Given the description of an element on the screen output the (x, y) to click on. 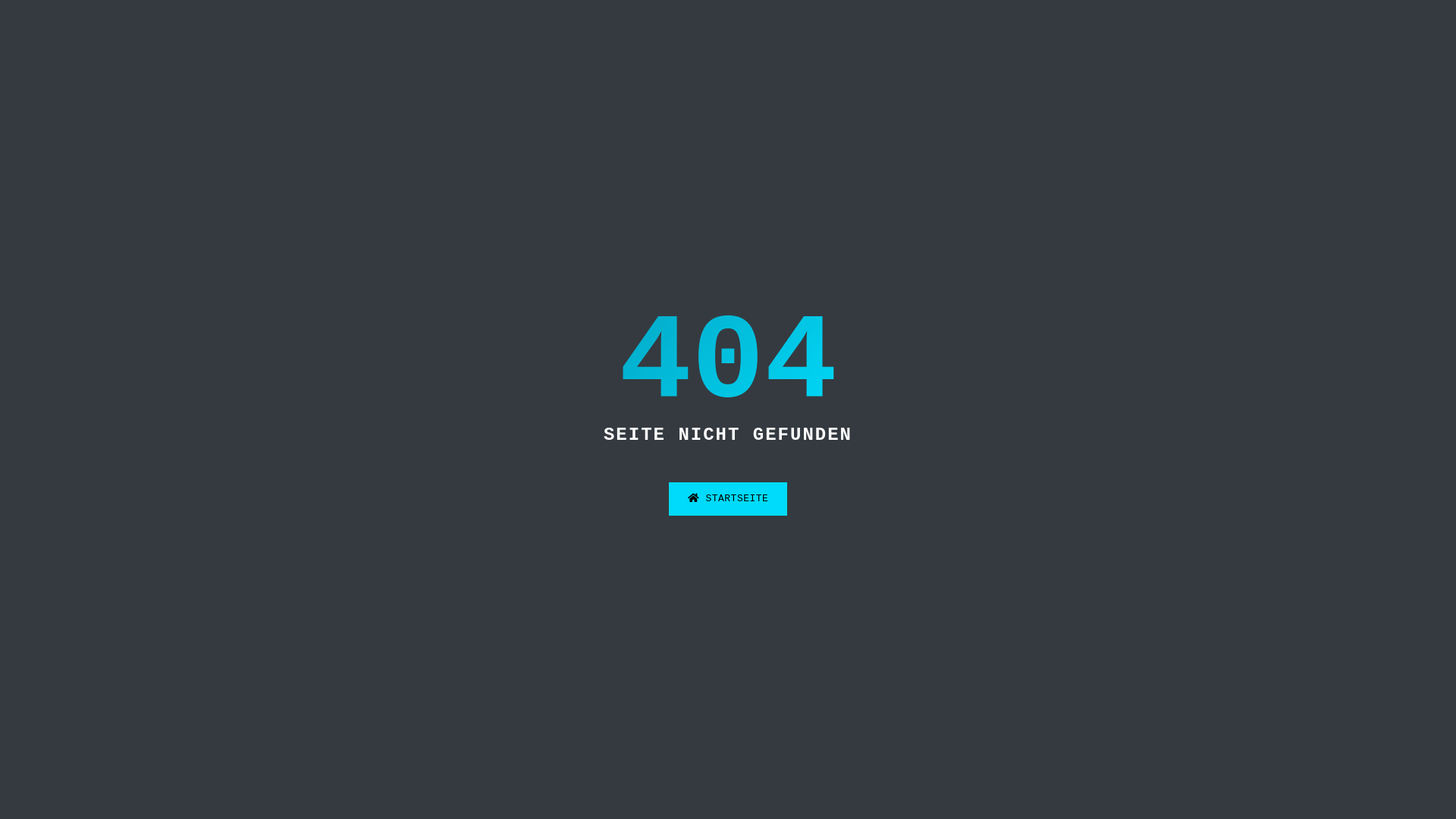
STARTSEITE Element type: text (727, 498)
